Given the description of an element on the screen output the (x, y) to click on. 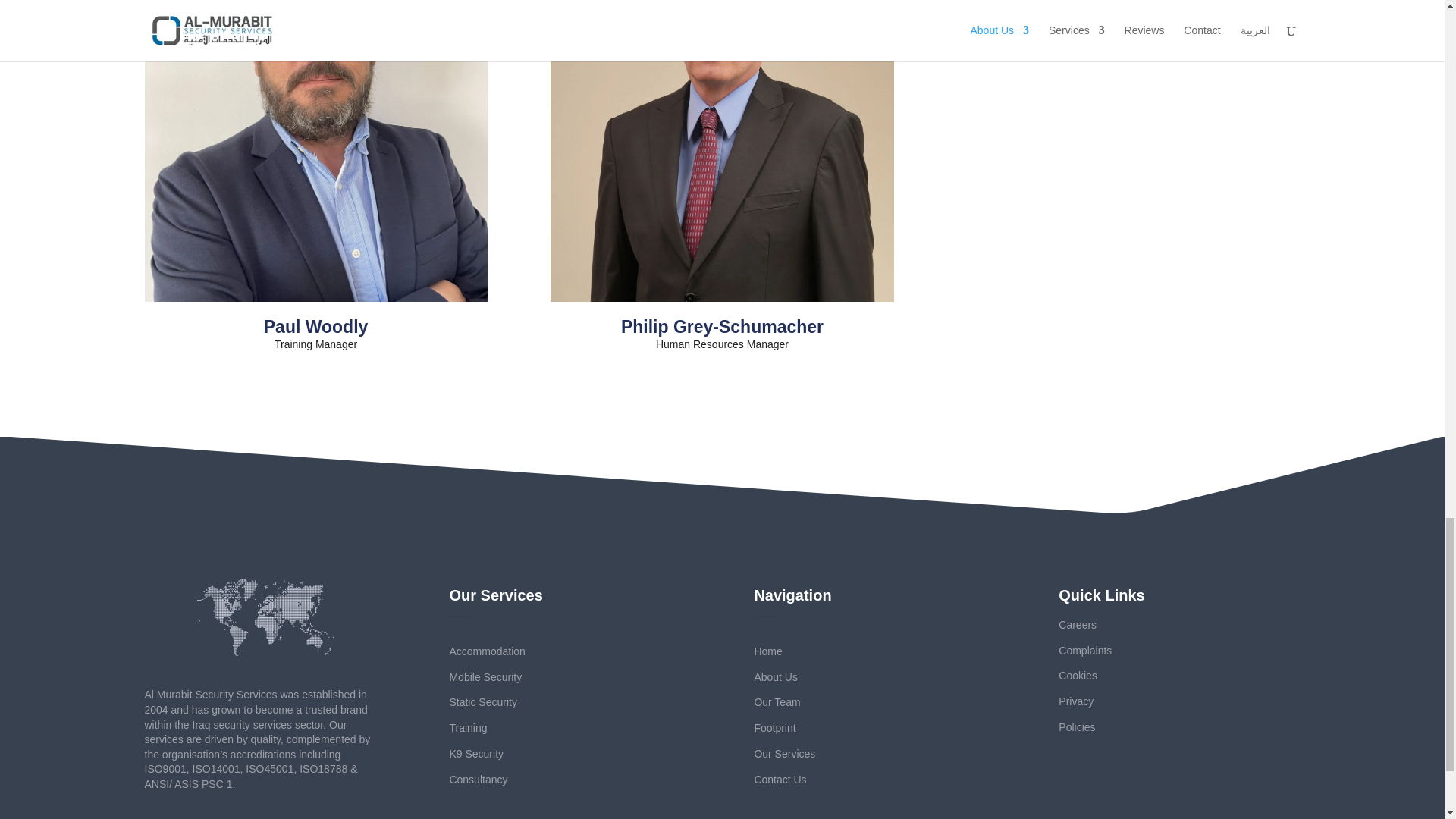
world-map (264, 617)
